Given the description of an element on the screen output the (x, y) to click on. 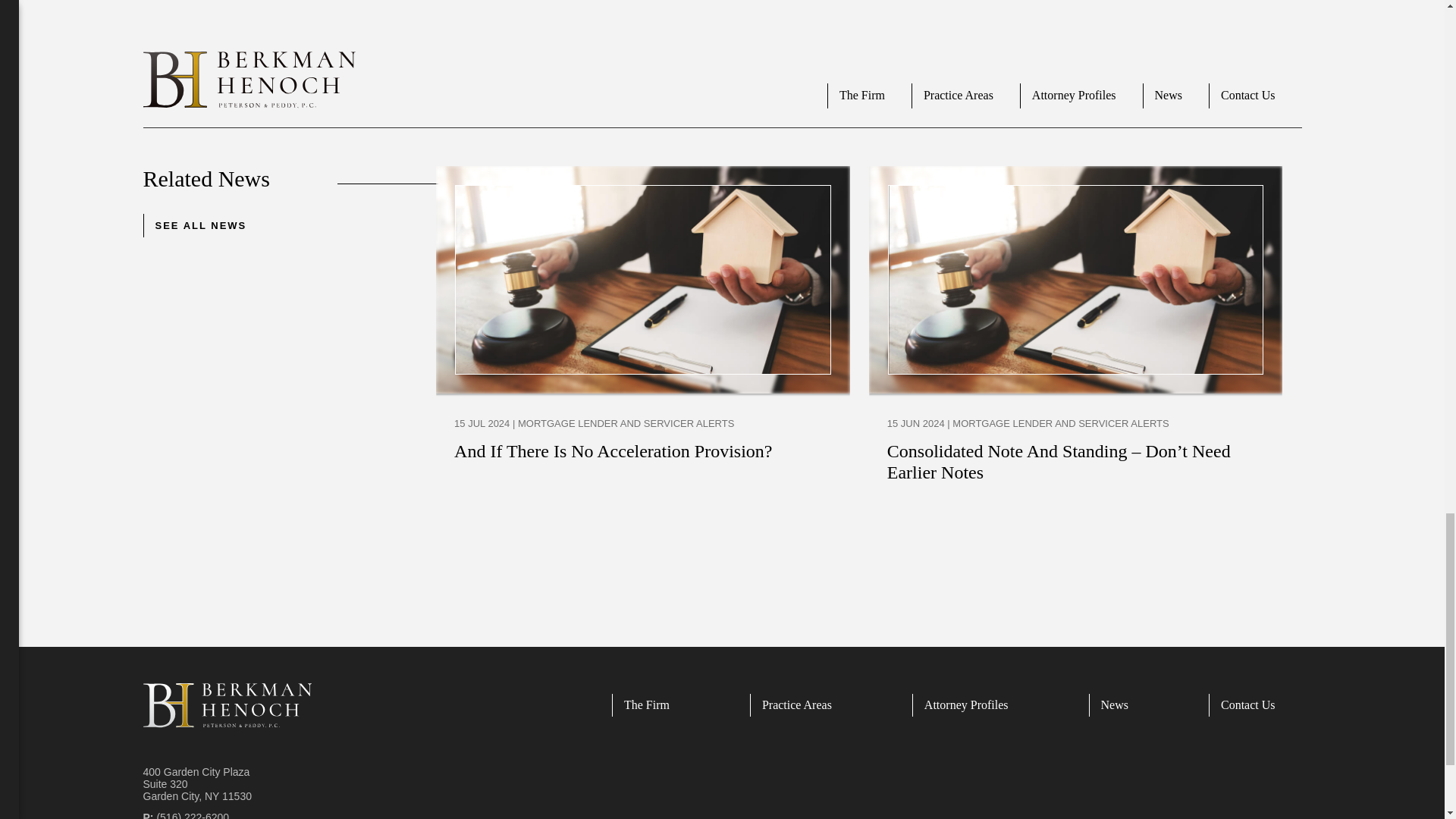
Practice Areas (804, 704)
Attorney Profiles (973, 704)
News (1121, 704)
The Firm (653, 704)
SEE ALL NEWS (199, 225)
Contact Us (1254, 704)
